Given the description of an element on the screen output the (x, y) to click on. 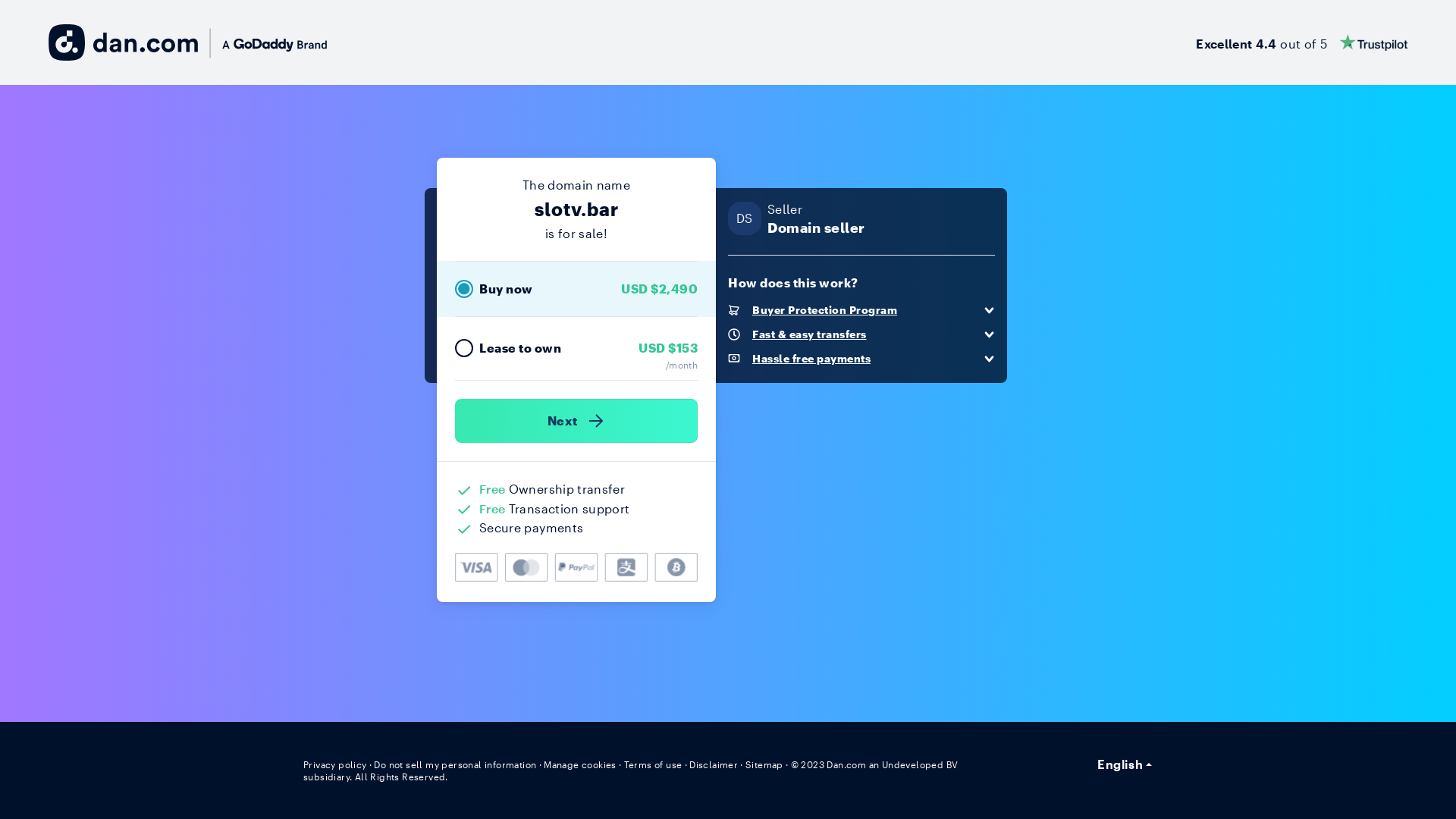
Privacy policy Element type: text (335, 764)
Next
) Element type: text (576, 420)
English Element type: text (1124, 764)
Sitemap Element type: text (764, 764)
Excellent 4.4 out of 5 Element type: text (1301, 42)
Terms of use Element type: text (653, 764)
Manage cookies Element type: text (579, 764)
Disclaimer Element type: text (713, 764)
Do not sell my personal information Element type: text (454, 764)
